Given the description of an element on the screen output the (x, y) to click on. 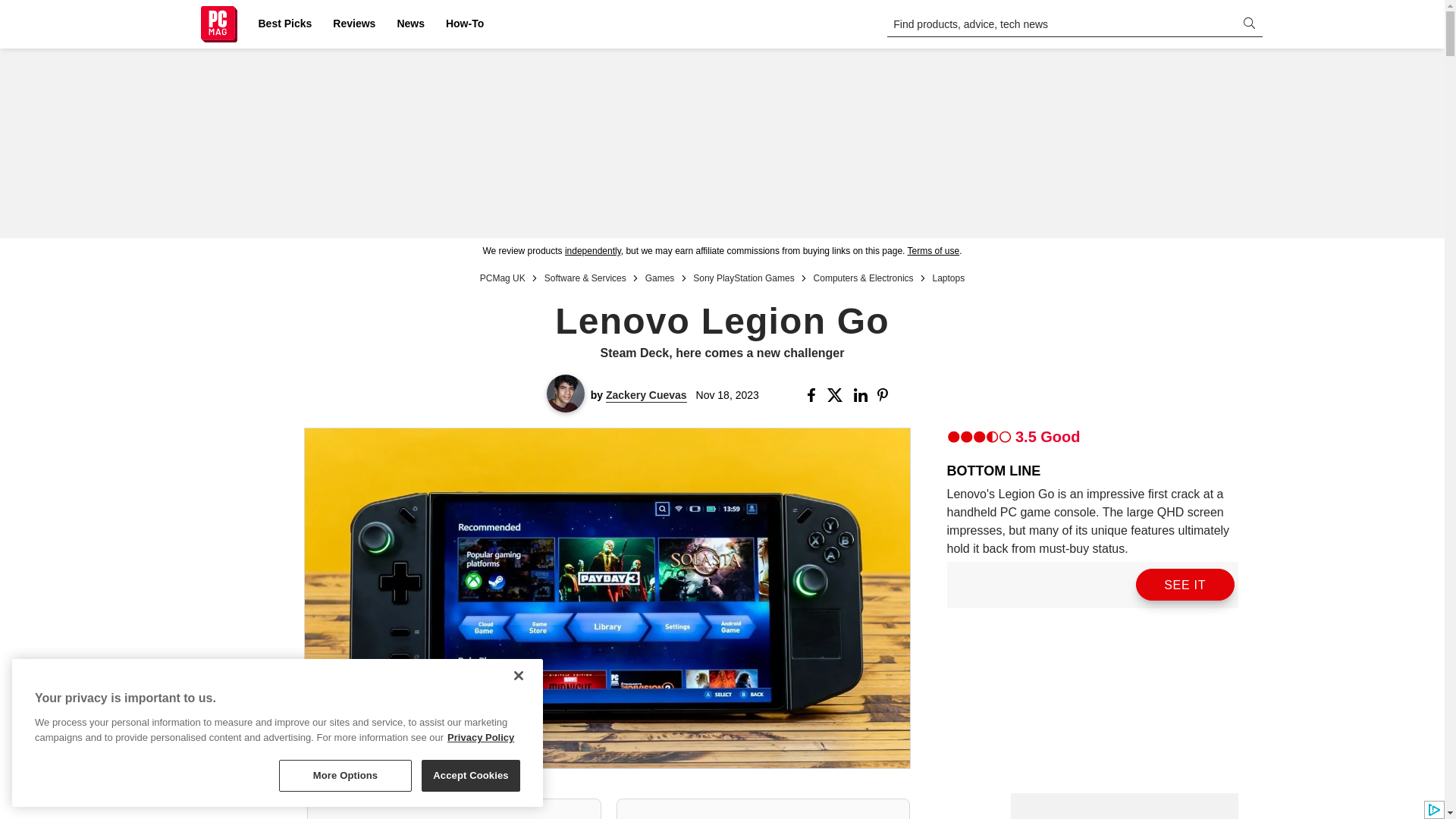
Best Picks (284, 24)
Share this Story on Facebook (814, 395)
Share this Story on Linkedin (861, 395)
Share this Story on X (837, 395)
Share this Story on Pinterest (887, 395)
